Given the description of an element on the screen output the (x, y) to click on. 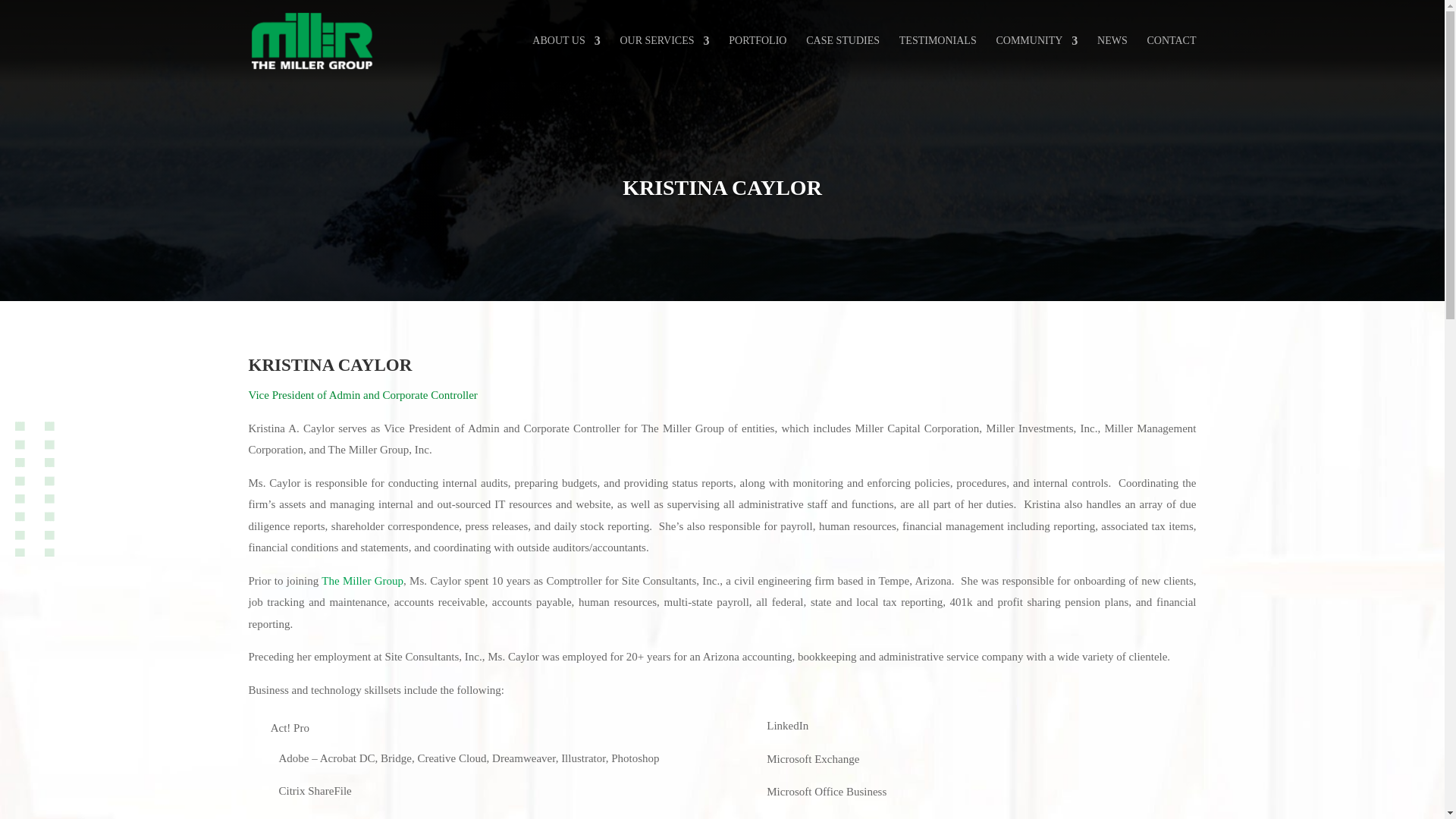
PORTFOLIO (757, 58)
CONTACT (1171, 58)
CASE STUDIES (842, 58)
COMMUNITY (1036, 58)
OUR SERVICES (664, 58)
ABOUT US (565, 58)
TESTIMONIALS (937, 58)
